Given the description of an element on the screen output the (x, y) to click on. 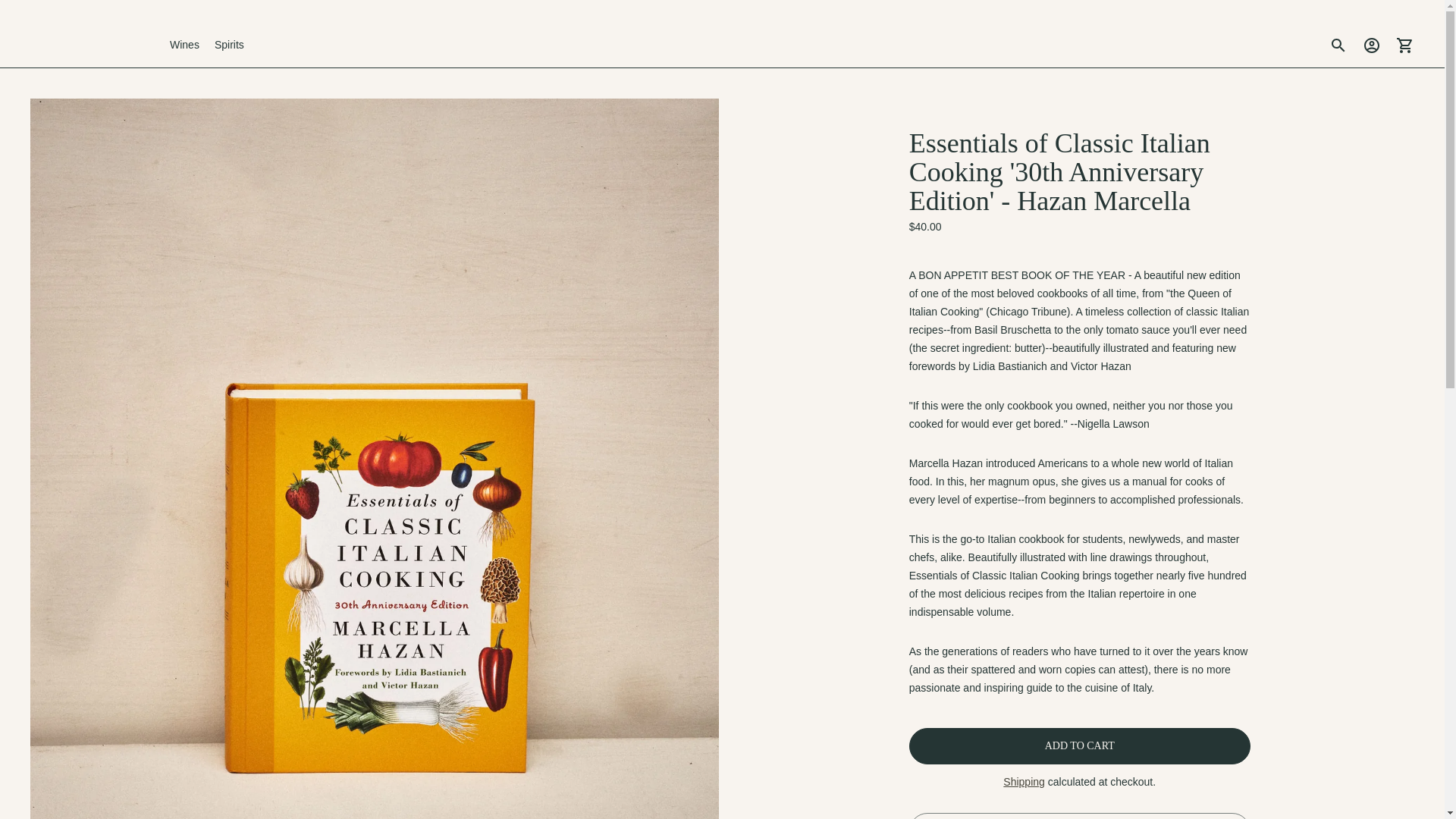
got to homepage (90, 45)
Cart (1405, 45)
ADD TO REGISTRY (1079, 816)
ADD TO CART (1079, 746)
Shipping (1024, 781)
Search (1338, 45)
Account (1372, 45)
